Given the description of an element on the screen output the (x, y) to click on. 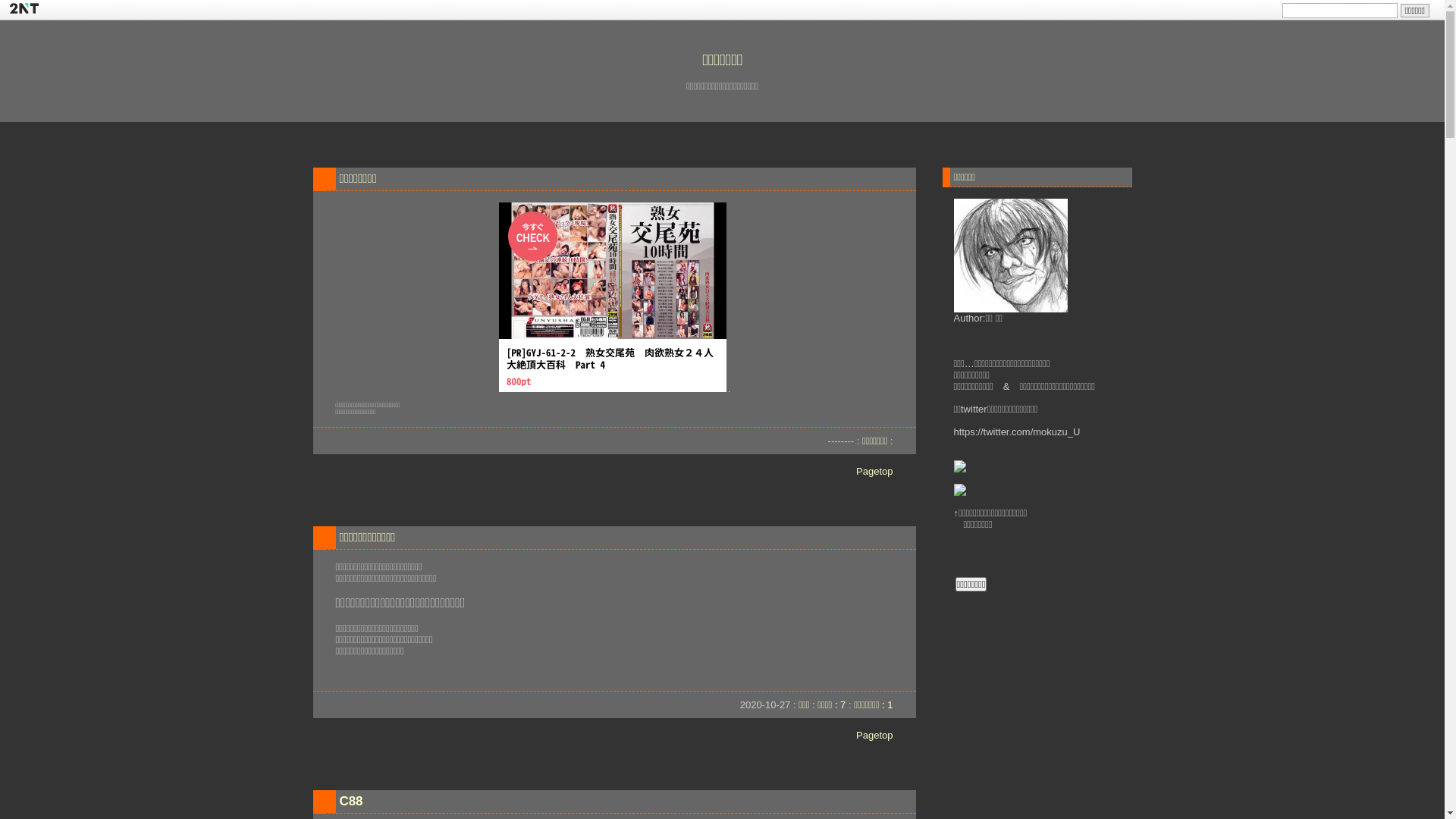
C88 Element type: text (351, 800)
Pagetop Element type: text (874, 734)
Pagetop Element type: text (874, 470)
